Given the description of an element on the screen output the (x, y) to click on. 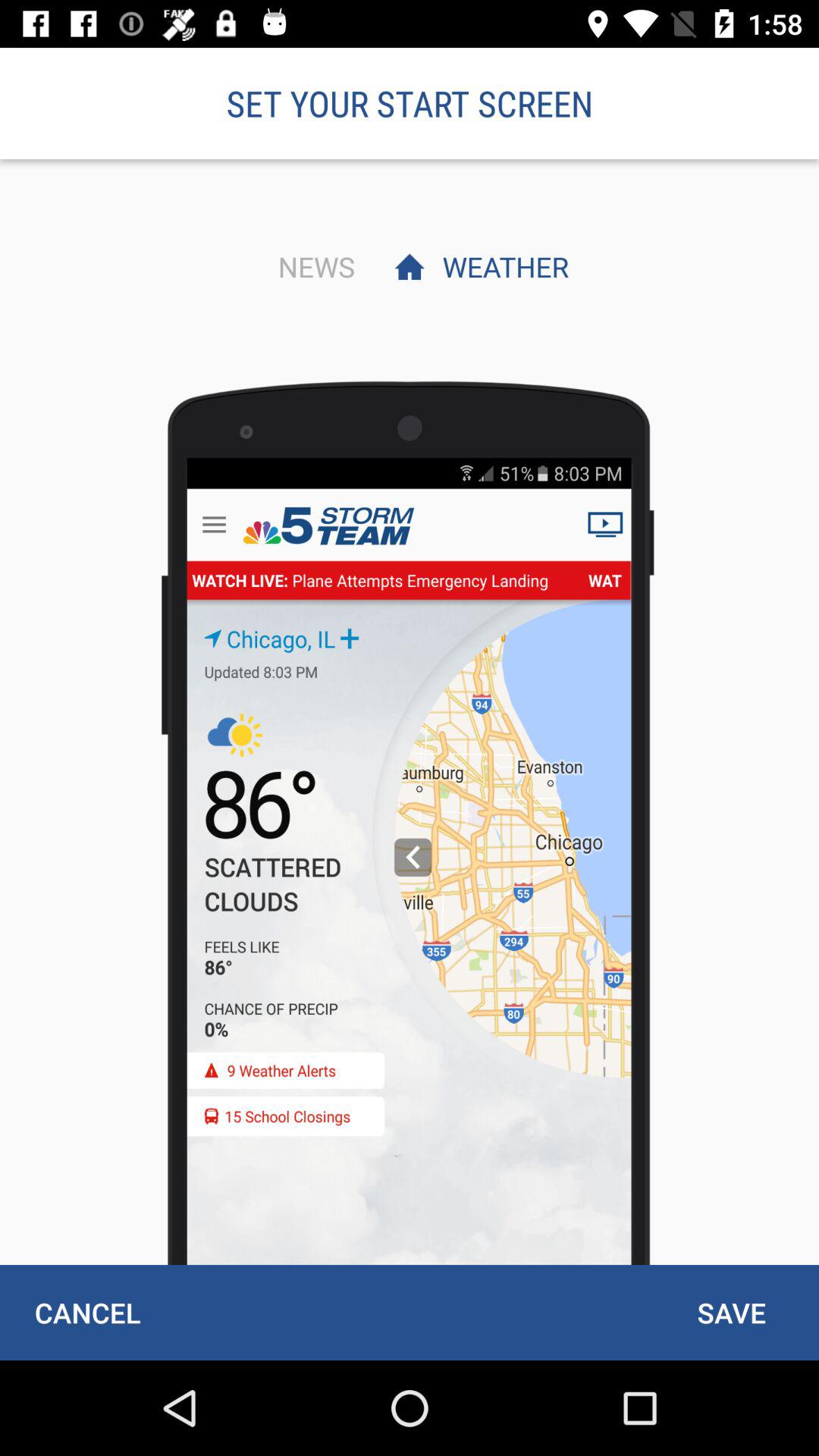
jump until weather icon (501, 266)
